Given the description of an element on the screen output the (x, y) to click on. 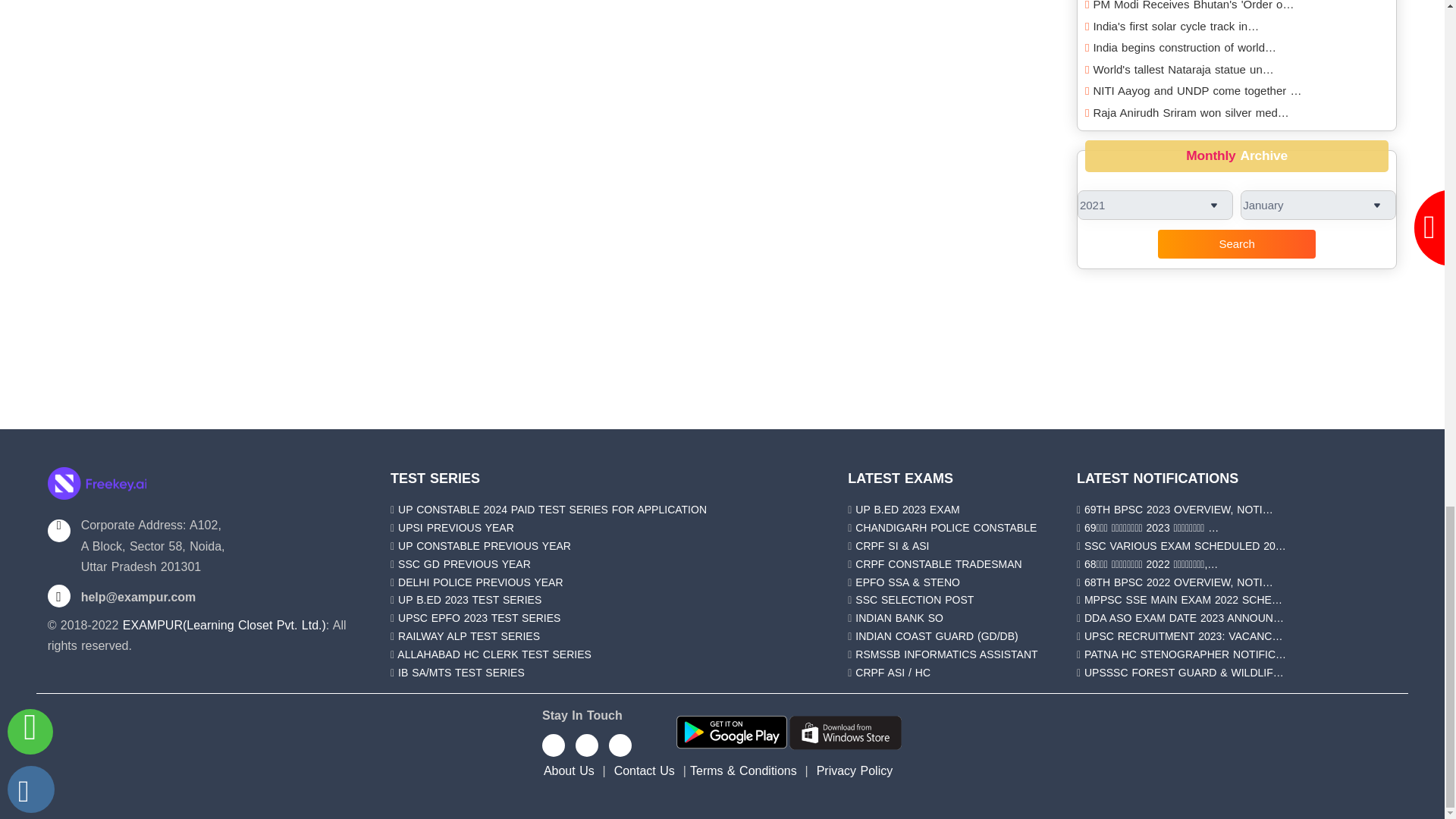
DDA ASO EXAM DATE 2023 ANNOUNCED: ADMIT CARD DETAILS (1184, 617)
MPPSC SSE MAIN EXAM 2022 SCHEDULE: GET YOUR ADMIT CARD (1183, 599)
SSC VARIOUS EXAM SCHEDULED 2022: CHECK YOUR EXAM DATE HERE (1184, 545)
